Given the description of an element on the screen output the (x, y) to click on. 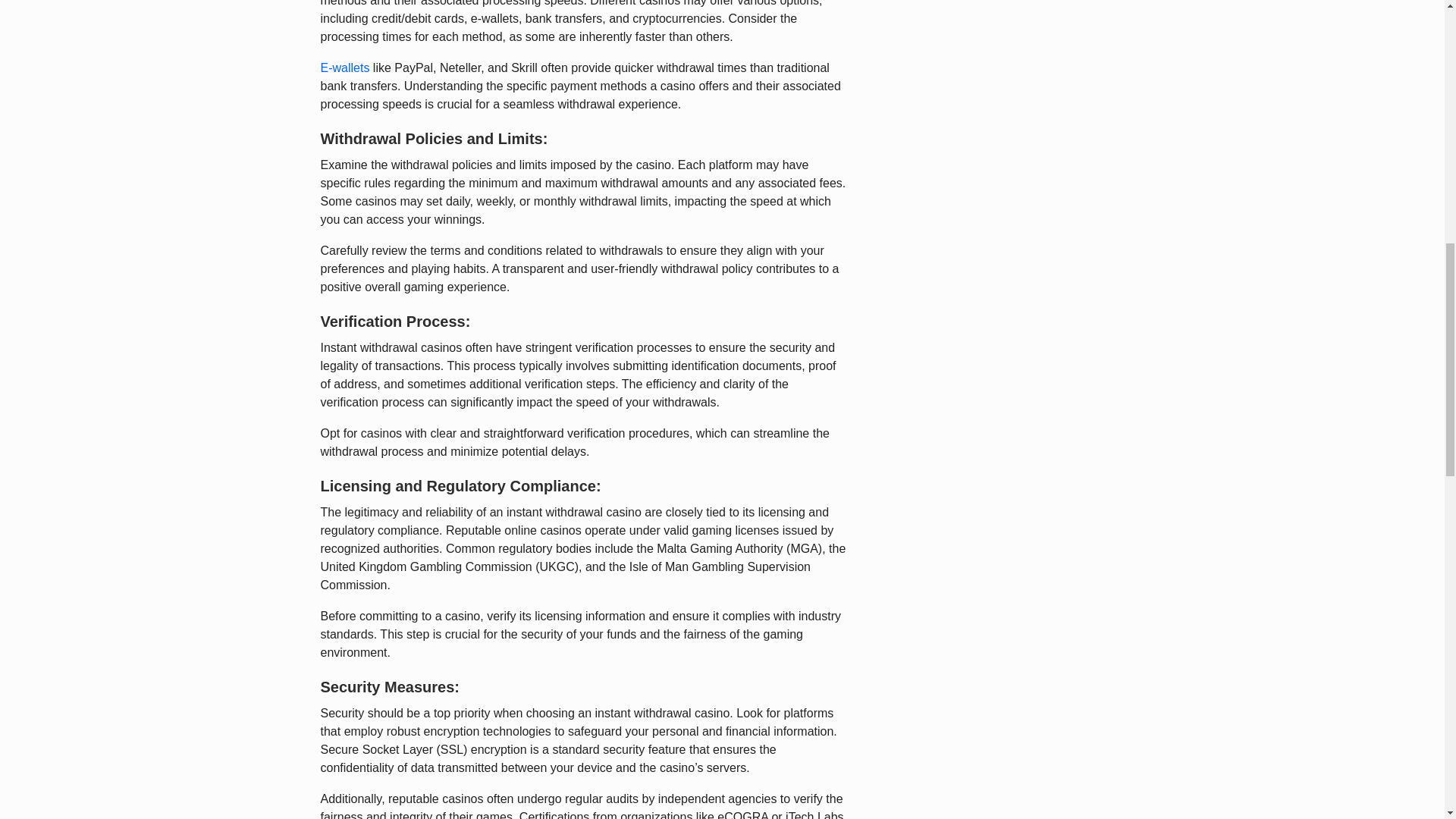
E-wallets (344, 67)
